Given the description of an element on the screen output the (x, y) to click on. 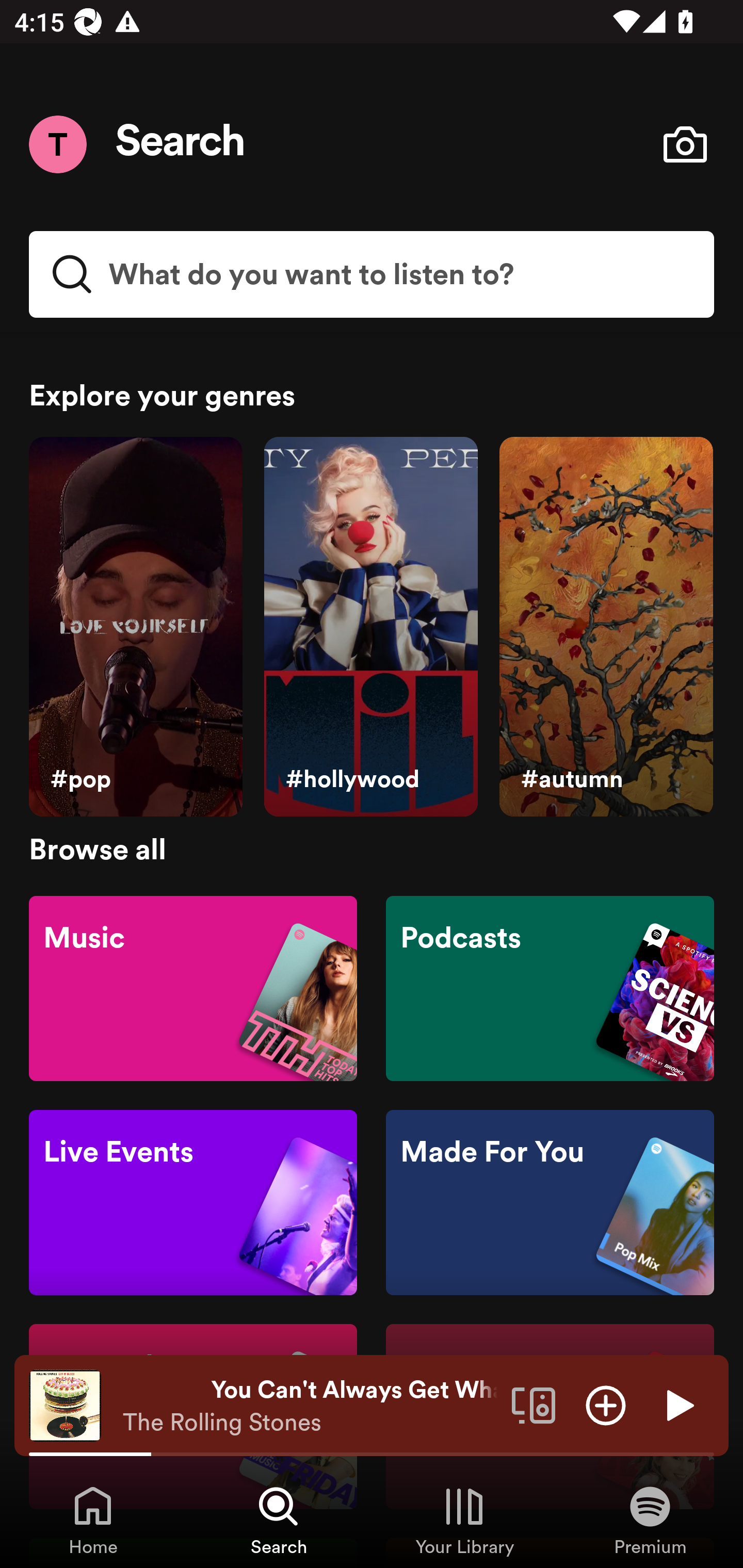
Menu (57, 144)
Open camera (685, 145)
Search (180, 144)
#pop (135, 626)
#hollywood (370, 626)
#autumn (606, 626)
Music (192, 987)
Podcasts (549, 987)
Live Events (192, 1202)
Made For You (549, 1202)
The cover art of the currently playing track (64, 1404)
Connect to a device. Opens the devices menu (533, 1404)
Add item (605, 1404)
Play (677, 1404)
Home, Tab 1 of 4 Home Home (92, 1519)
Search, Tab 2 of 4 Search Search (278, 1519)
Your Library, Tab 3 of 4 Your Library Your Library (464, 1519)
Premium, Tab 4 of 4 Premium Premium (650, 1519)
